Given the description of an element on the screen output the (x, y) to click on. 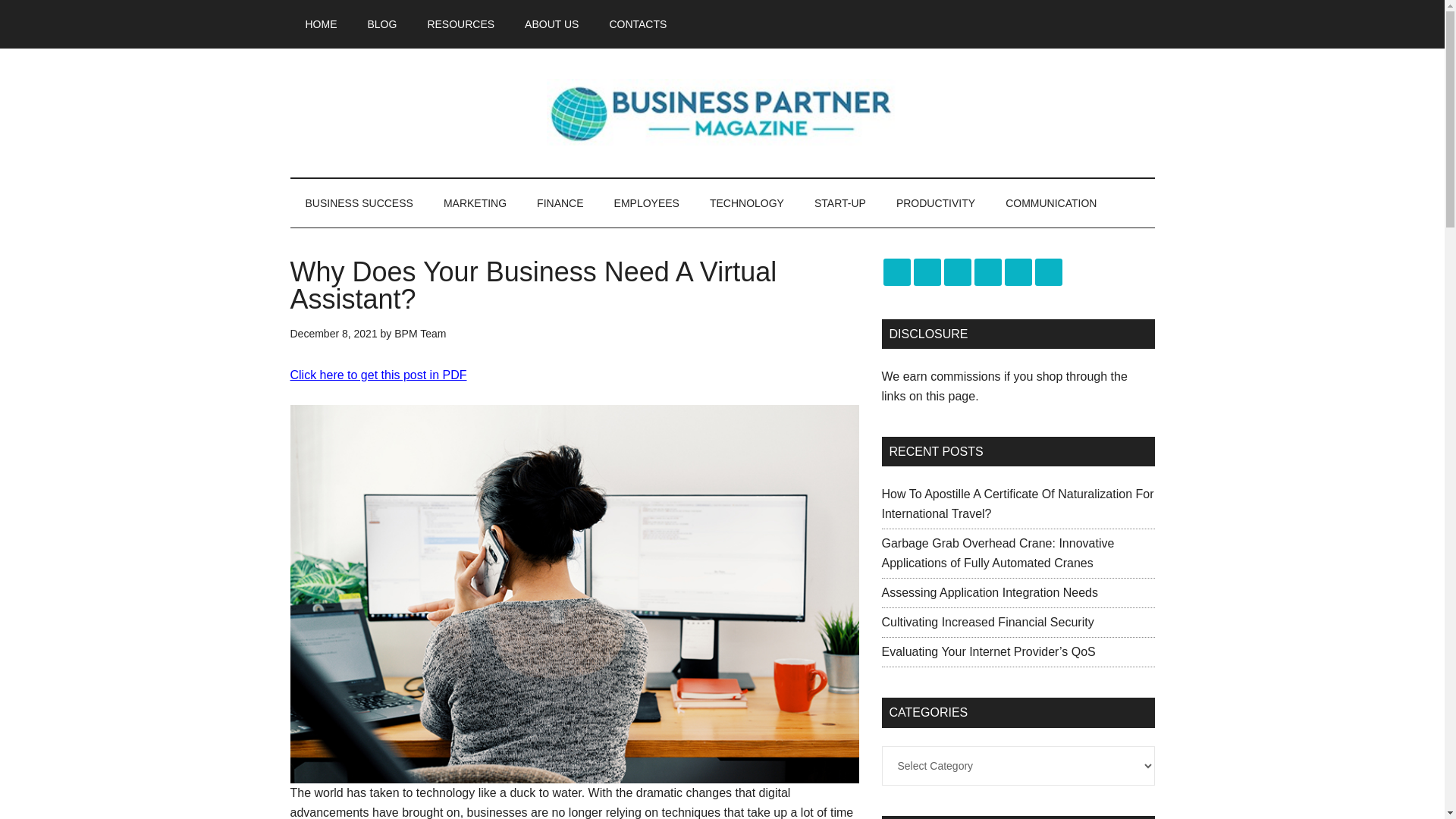
HOME (320, 24)
RESOURCES (460, 24)
COMMUNICATION (1051, 203)
TECHNOLOGY (746, 203)
BUSINESS SUCCESS (358, 203)
EMPLOYEES (646, 203)
Business Partner Magazine (721, 112)
Click here to get this post in PDF (377, 374)
PRODUCTIVITY (935, 203)
START-UP (839, 203)
BPM Team (419, 333)
ABOUT US (551, 24)
FINANCE (559, 203)
MARKETING (474, 203)
BLOG (382, 24)
